Given the description of an element on the screen output the (x, y) to click on. 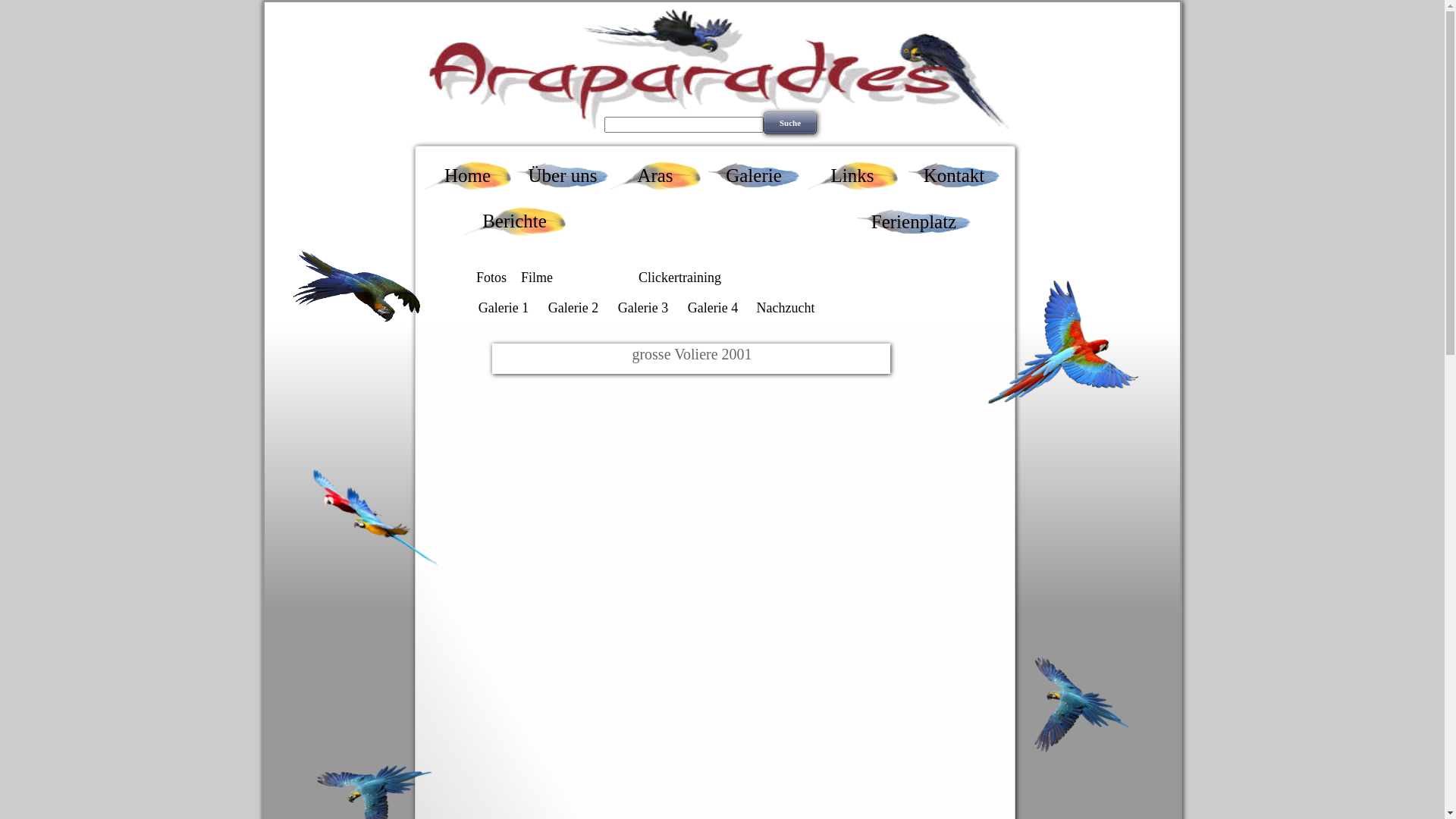
Galerie Element type: text (753, 175)
Galerie 2 Element type: text (573, 307)
Fotos Element type: text (491, 277)
Galerie 3 Element type: text (642, 307)
Links Element type: text (852, 175)
Filme Element type: text (536, 277)
Fotos Element type: text (491, 277)
Galerie 3 Element type: text (643, 307)
Galerie 1 Element type: text (503, 307)
Galerie 1 Element type: text (503, 307)
Clickertraining Element type: text (679, 277)
Aras Element type: text (654, 175)
Kontakt Element type: text (954, 175)
Ferienplatz Element type: text (913, 222)
Galerie 4 Element type: text (712, 307)
Galerie Element type: text (753, 175)
Berichte Element type: text (514, 220)
Berichte Element type: text (514, 221)
Galerie 2 Element type: text (573, 307)
Nachzucht Element type: text (785, 307)
Suche Element type: text (789, 122)
Links Element type: text (851, 175)
Suche Element type: text (789, 122)
Ferienplatz Element type: text (913, 221)
Home Element type: text (467, 175)
Aras Element type: text (654, 175)
Filme Element type: text (536, 277)
Galerie 4 Element type: text (712, 307)
Kontakt Element type: text (953, 175)
Clickertraining Element type: text (679, 277)
  Element type: text (263, 6)
Nachzucht Element type: text (785, 307)
Home Element type: text (467, 175)
